Given the description of an element on the screen output the (x, y) to click on. 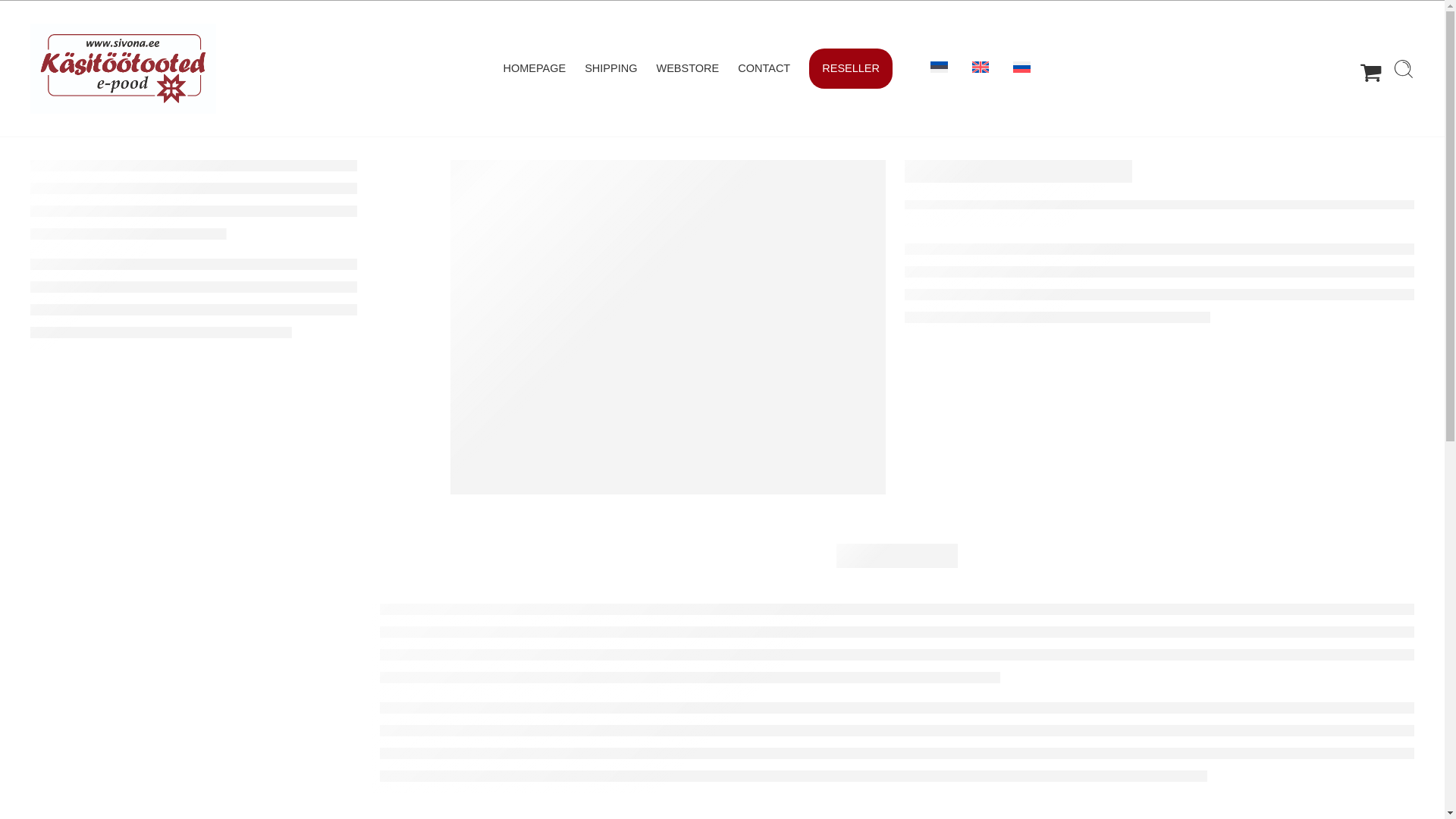
CONTACT (764, 68)
HOMEPAGE (534, 68)
WEBSTORE (687, 68)
Search (1403, 68)
RESELLER (850, 68)
WEBSTORE (687, 68)
Reseller (850, 68)
SHIPPING (611, 68)
HOMEPAGE (534, 68)
CONTACT (764, 68)
